Given the description of an element on the screen output the (x, y) to click on. 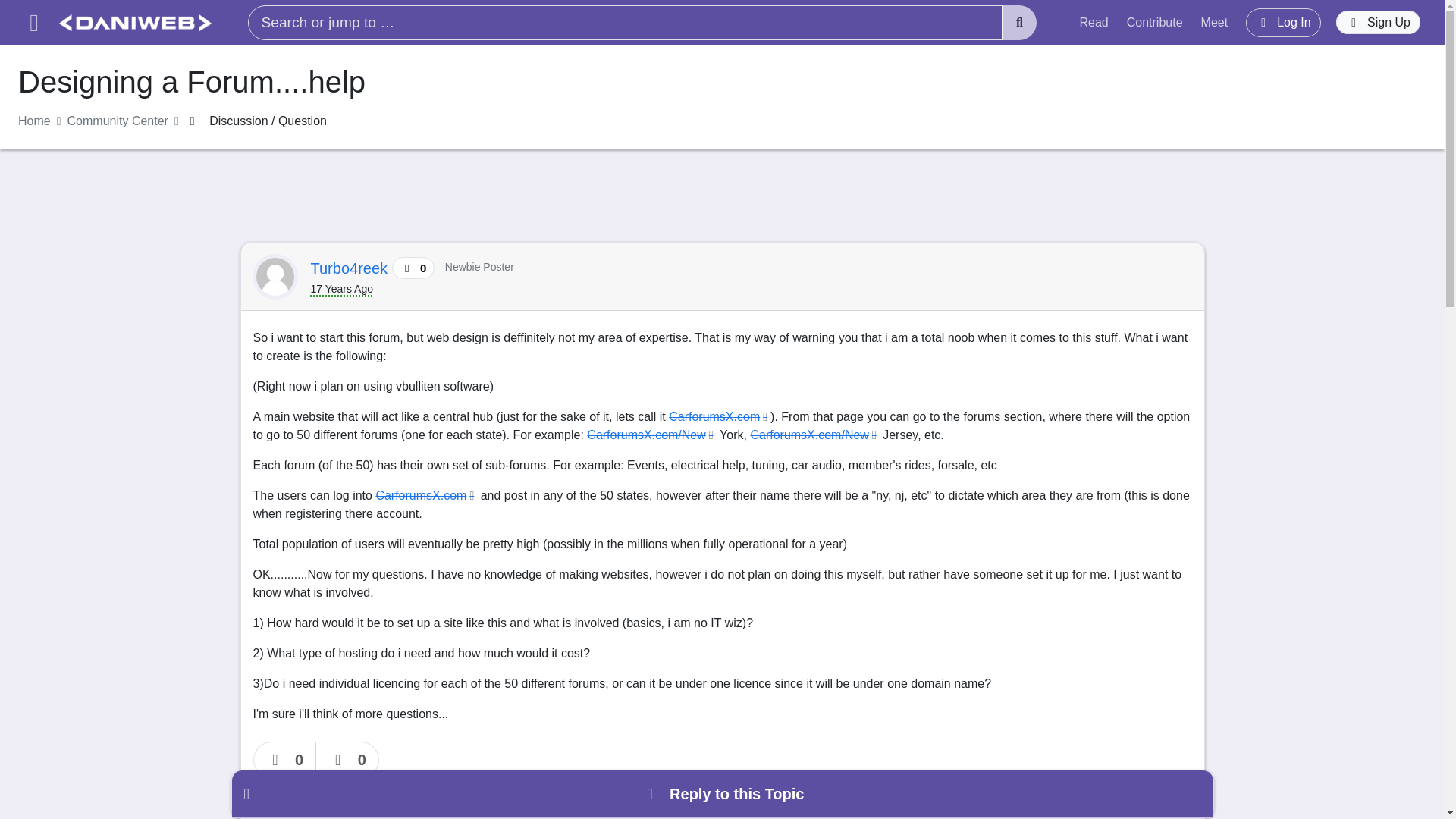
Search (1018, 22)
CarforumsX.com (426, 495)
Community Center (117, 120)
Home (33, 120)
Meet (1214, 22)
Log In (1283, 22)
0 (346, 760)
Sign Up (1378, 22)
DaniWeb (135, 22)
Toggle Menu (33, 22)
